Given the description of an element on the screen output the (x, y) to click on. 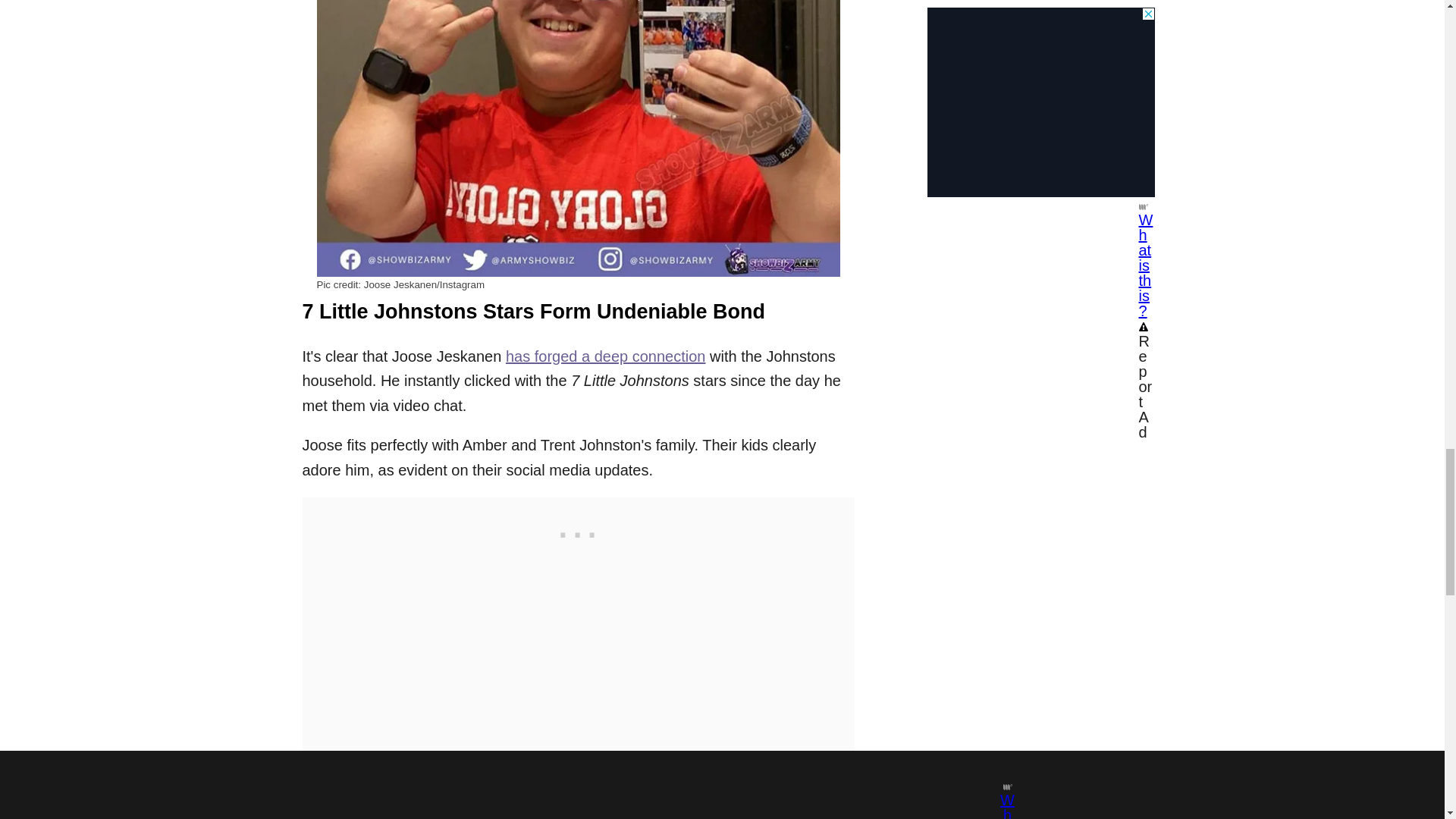
has forged a deep connection (605, 356)
3rd party ad content (577, 531)
